Given the description of an element on the screen output the (x, y) to click on. 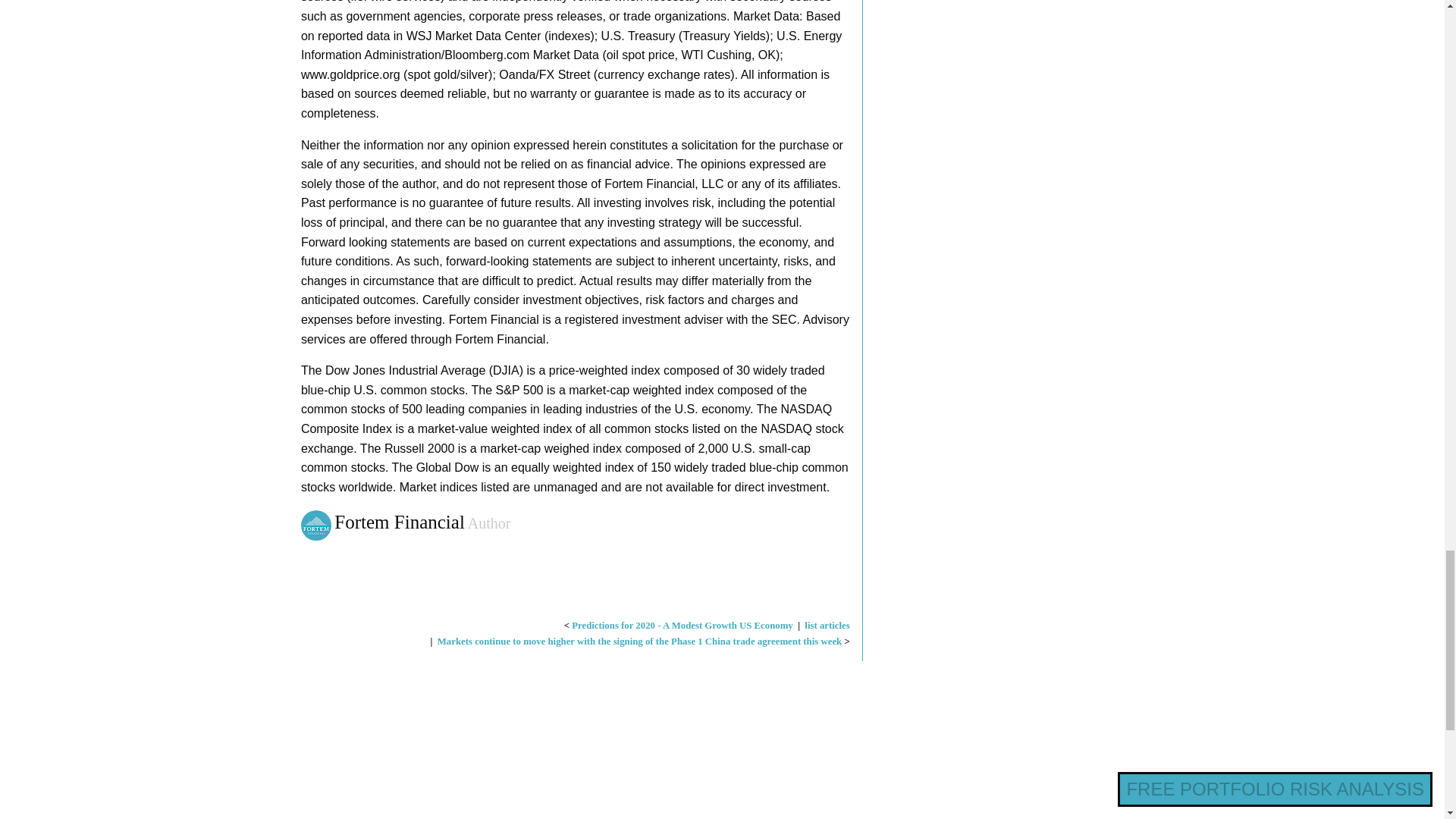
list articles (826, 624)
Fortem Financial (317, 523)
Predictions for 2020 - A Modest Growth US Economy (682, 624)
